Given the description of an element on the screen output the (x, y) to click on. 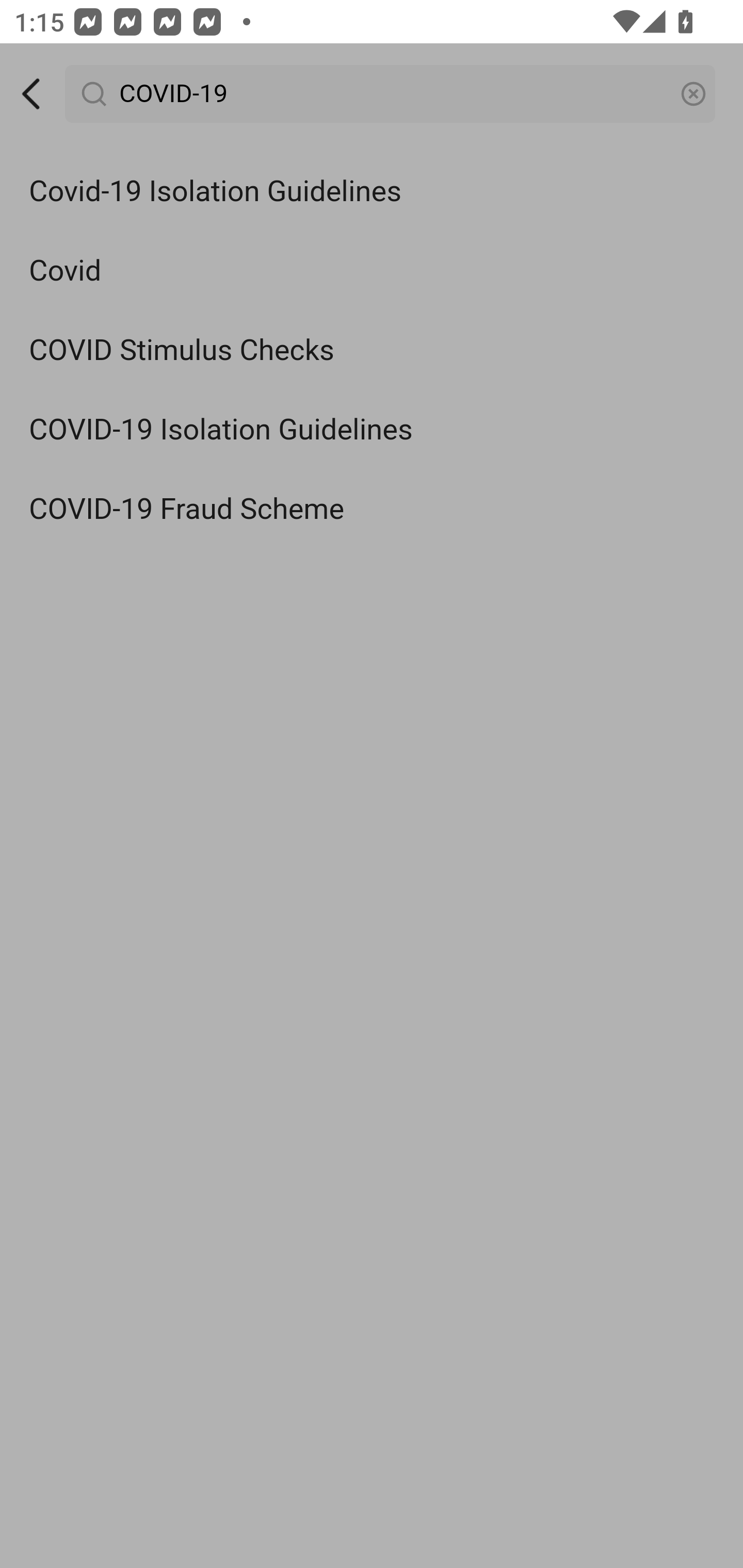
COVID-19 (390, 93)
Covid-19 Isolation Guidelines (371, 192)
Covid (371, 270)
COVID Stimulus Checks (371, 351)
COVID-19 Isolation Guidelines (371, 430)
COVID-19 Fraud Scheme (371, 508)
